Given the description of an element on the screen output the (x, y) to click on. 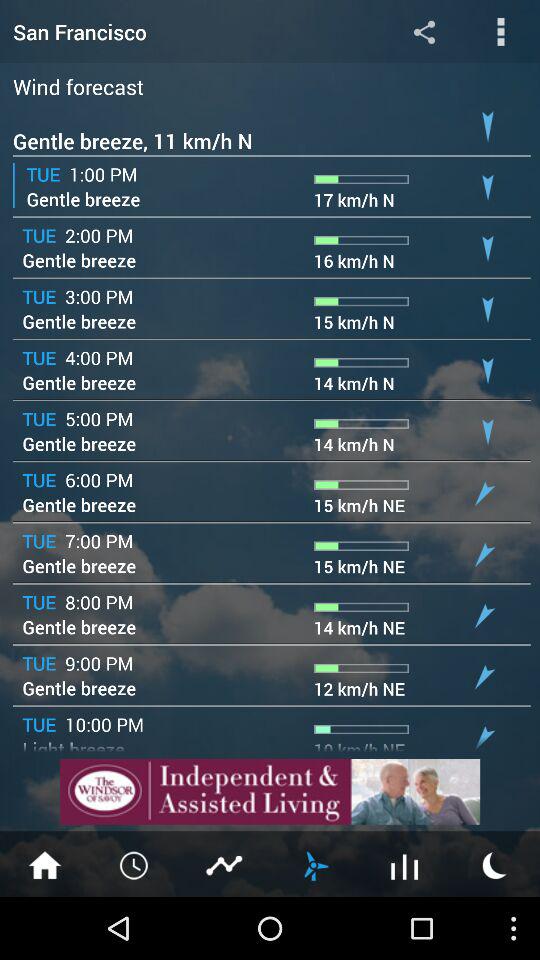
choose other time (135, 864)
